Given the description of an element on the screen output the (x, y) to click on. 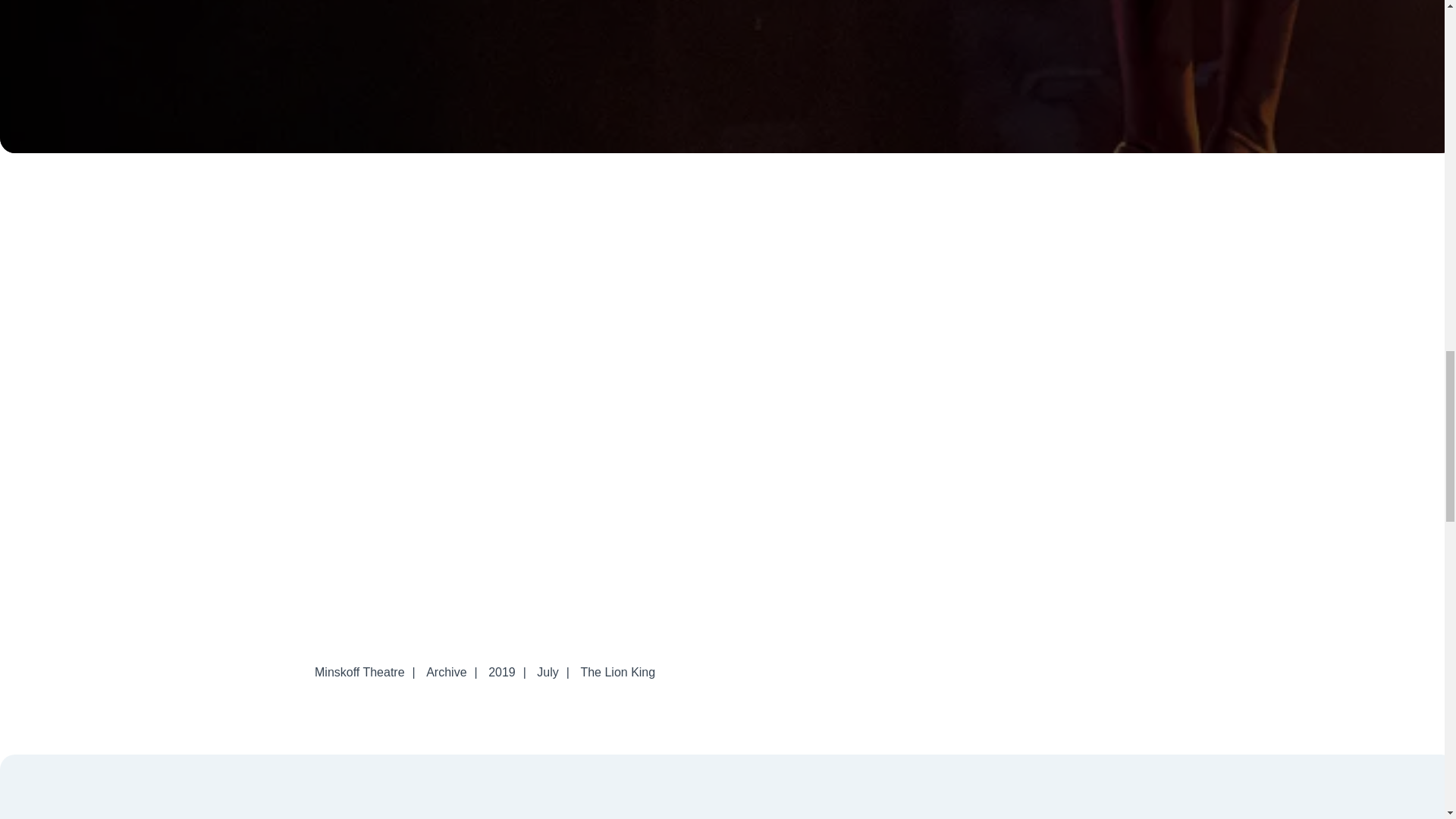
July (547, 671)
Minskoff Theatre (359, 671)
Archive (446, 671)
2019 (501, 671)
